Given the description of an element on the screen output the (x, y) to click on. 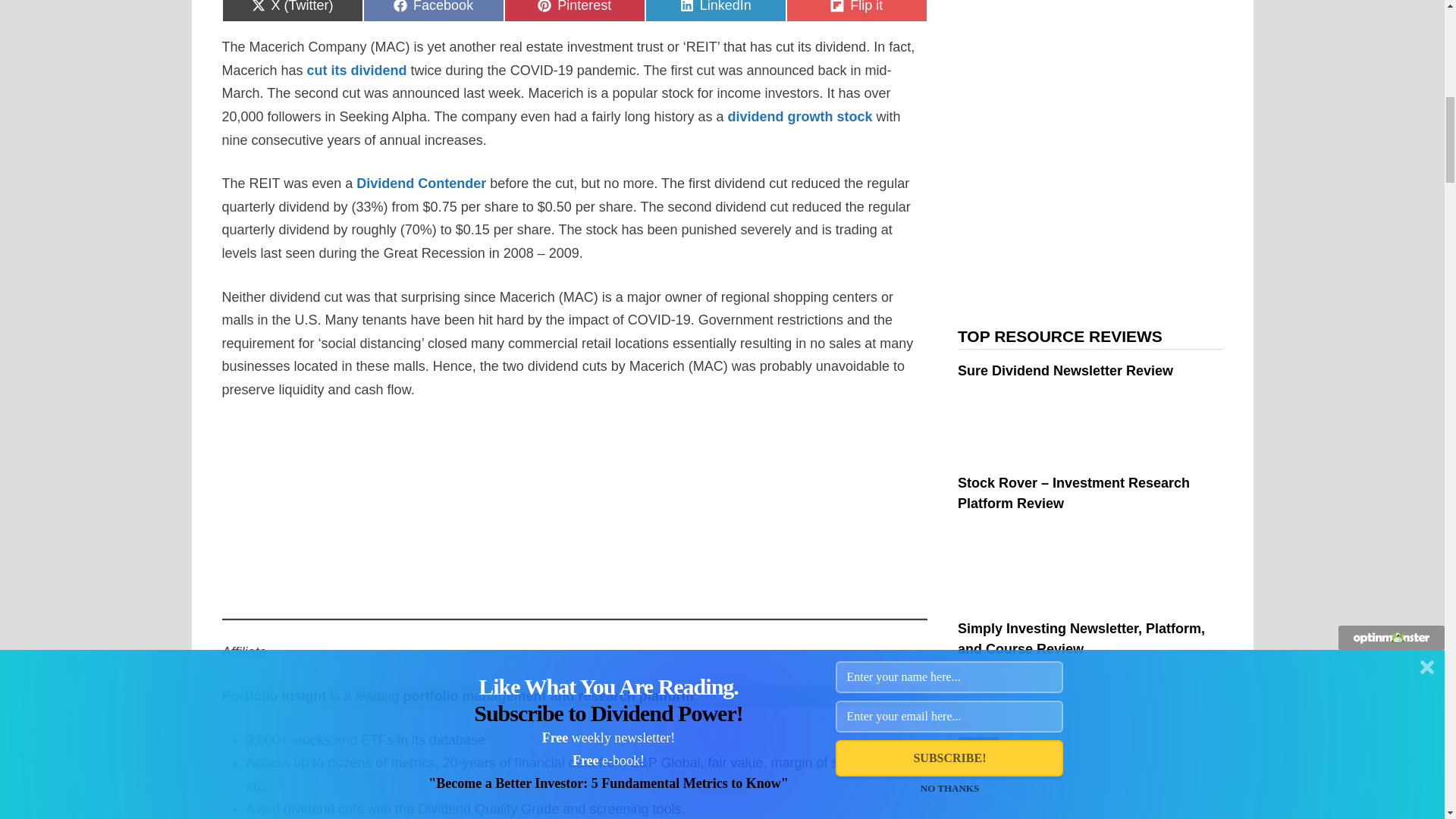
3rd party ad content (454, 515)
3rd party ad content (693, 515)
